Given the description of an element on the screen output the (x, y) to click on. 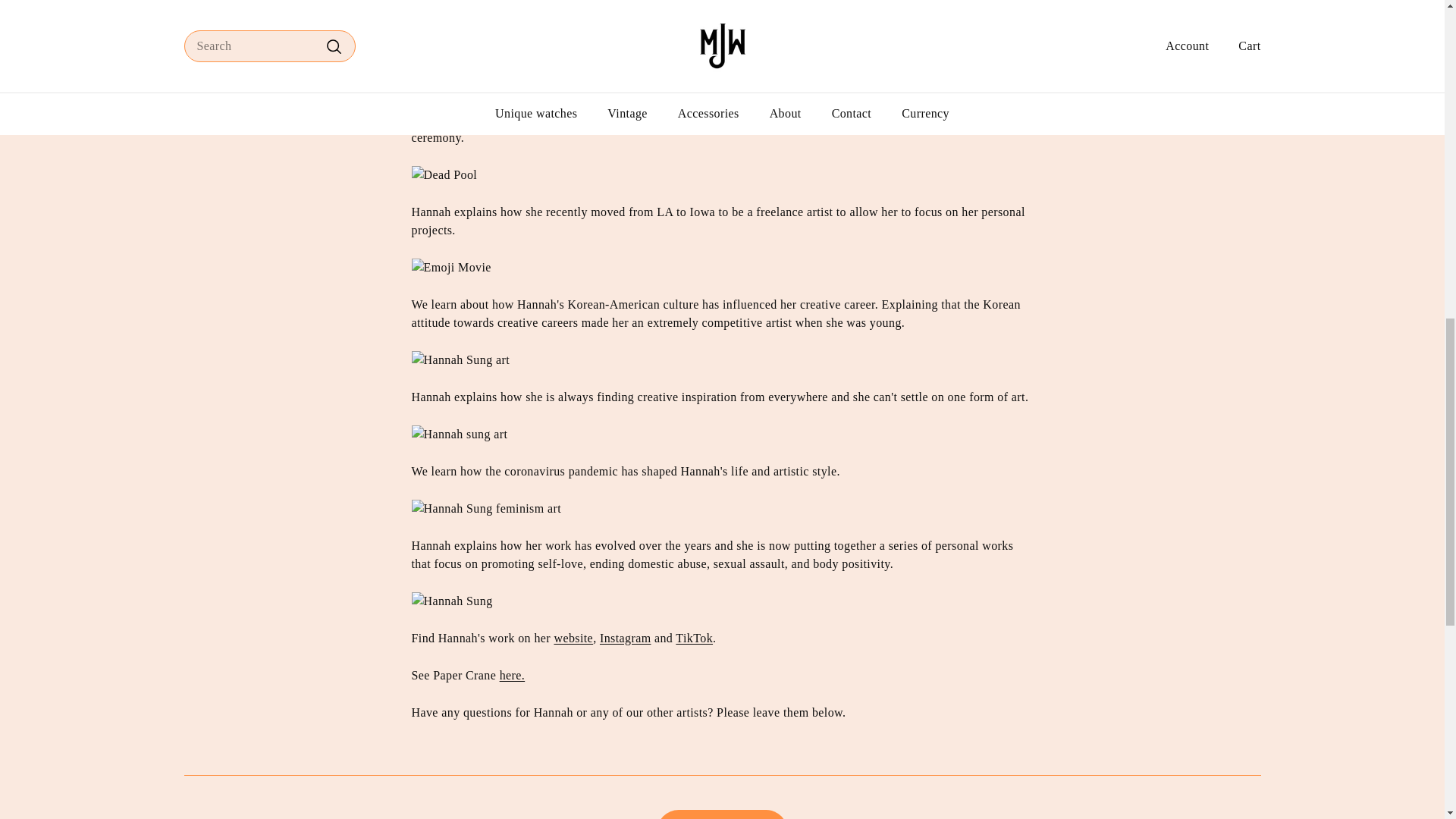
Hannah Sung Meowyoface tiktok (694, 637)
Paper Crane by Hannah Sung and Mr Jones Watches (512, 675)
Hannah Sung Instagram (624, 637)
Hannah Sung Website  (572, 637)
